Given the description of an element on the screen output the (x, y) to click on. 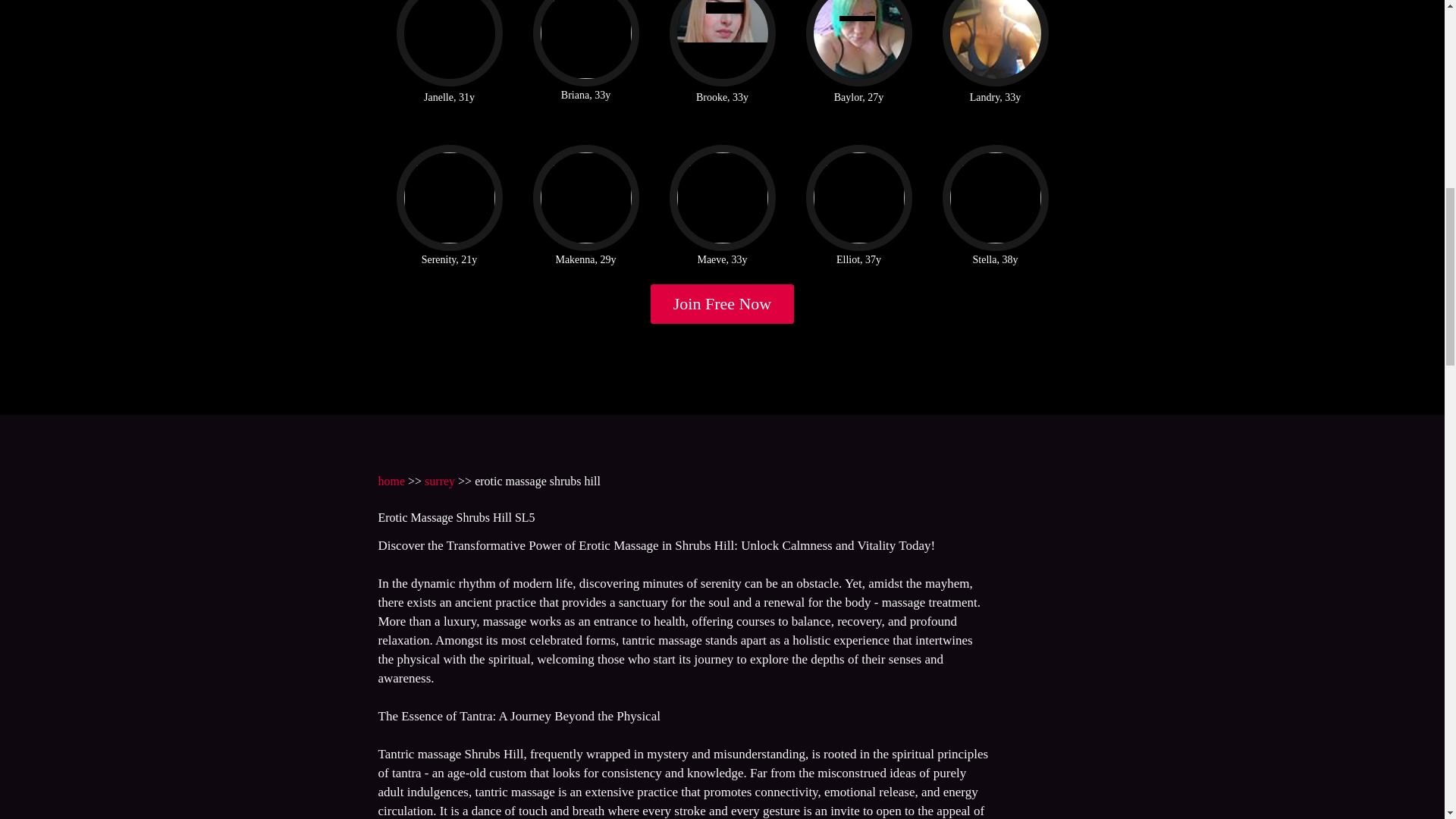
home (390, 481)
Join (722, 303)
surrey (439, 481)
Join Free Now (722, 303)
